Given the description of an element on the screen output the (x, y) to click on. 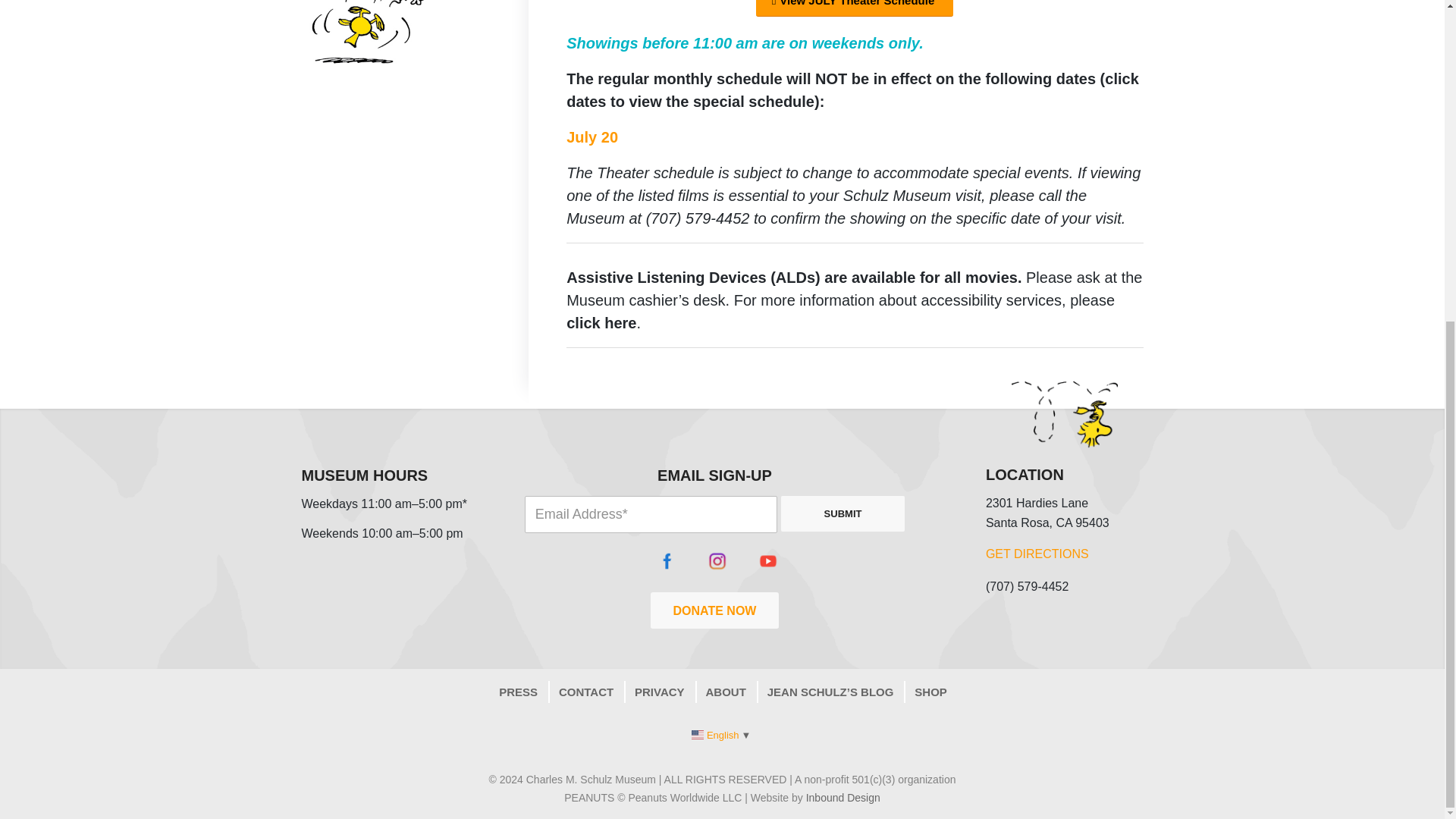
Submit (842, 513)
